Given the description of an element on the screen output the (x, y) to click on. 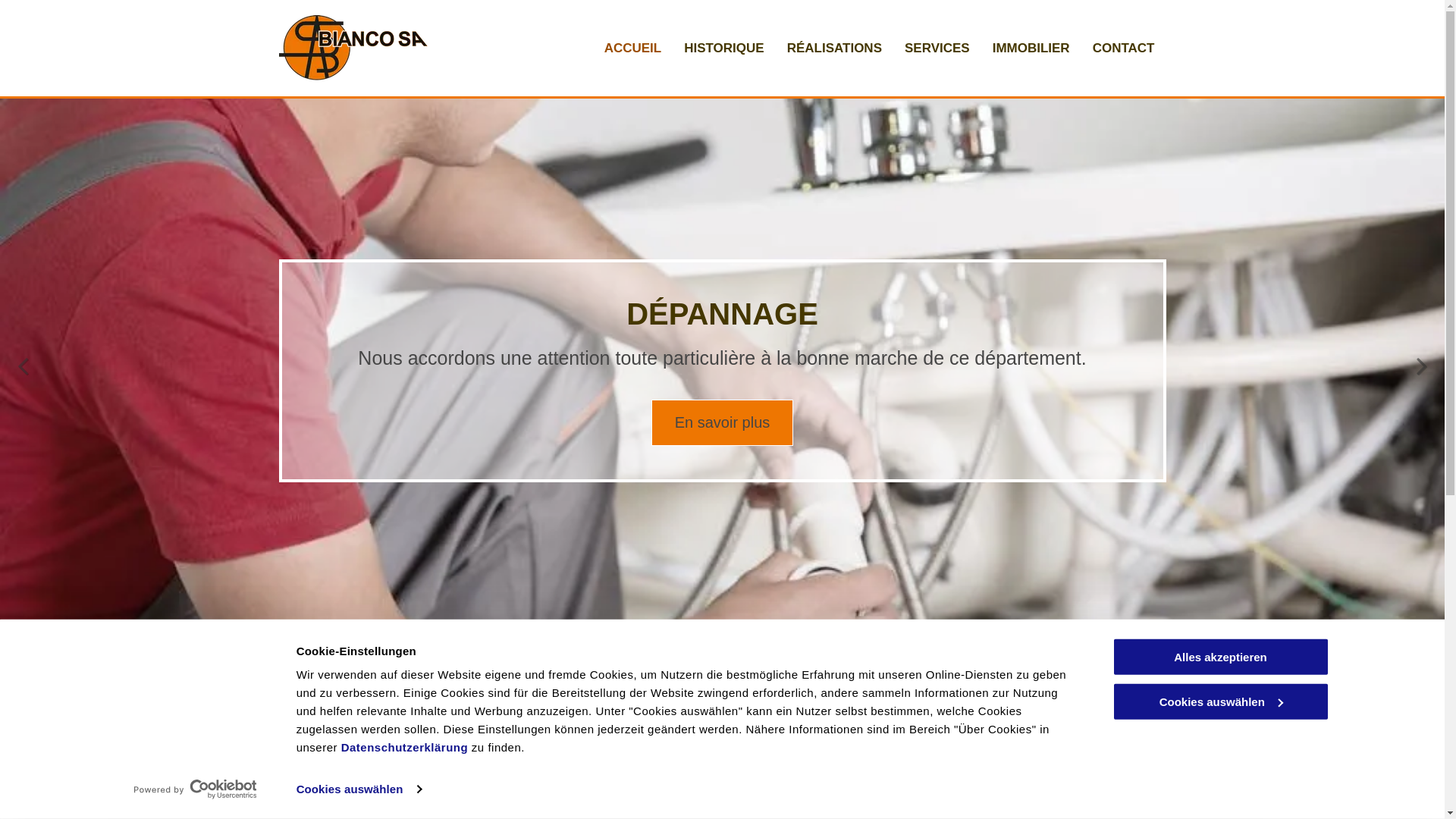
CONTACT Element type: text (1123, 48)
HISTORIQUE Element type: text (723, 48)
ACCUEIL Element type: text (633, 48)
SERVICES Element type: text (936, 48)
IMMOBILIER Element type: text (1031, 48)
Alles akzeptieren Element type: text (1219, 656)
